Given the description of an element on the screen output the (x, y) to click on. 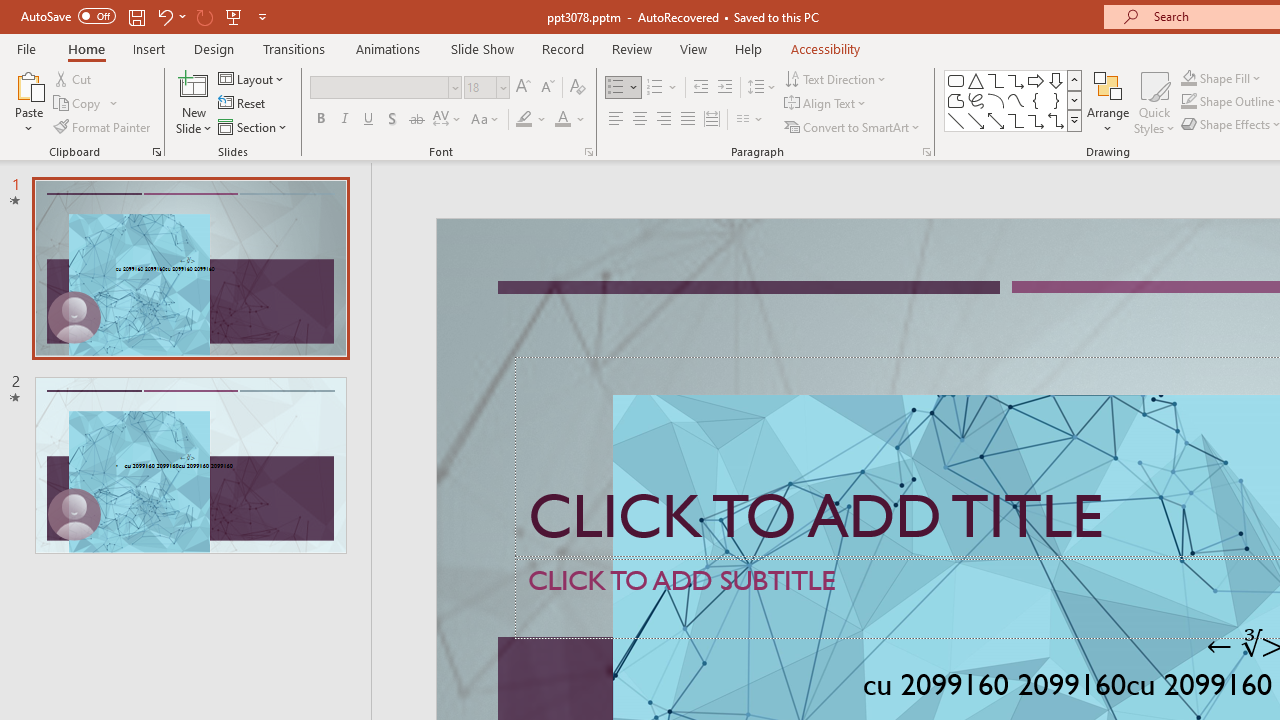
Section (254, 126)
Shape Outline Green, Accent 1 (1188, 101)
Shape Fill Dark Green, Accent 2 (1188, 78)
Clear Formatting (577, 87)
Arrow: Right (1035, 80)
Increase Font Size (522, 87)
Freeform: Scribble (975, 100)
New Slide (193, 102)
Font (385, 87)
Class: NetUIImage (1075, 120)
Font Color Red (562, 119)
New Slide (193, 84)
